Given the description of an element on the screen output the (x, y) to click on. 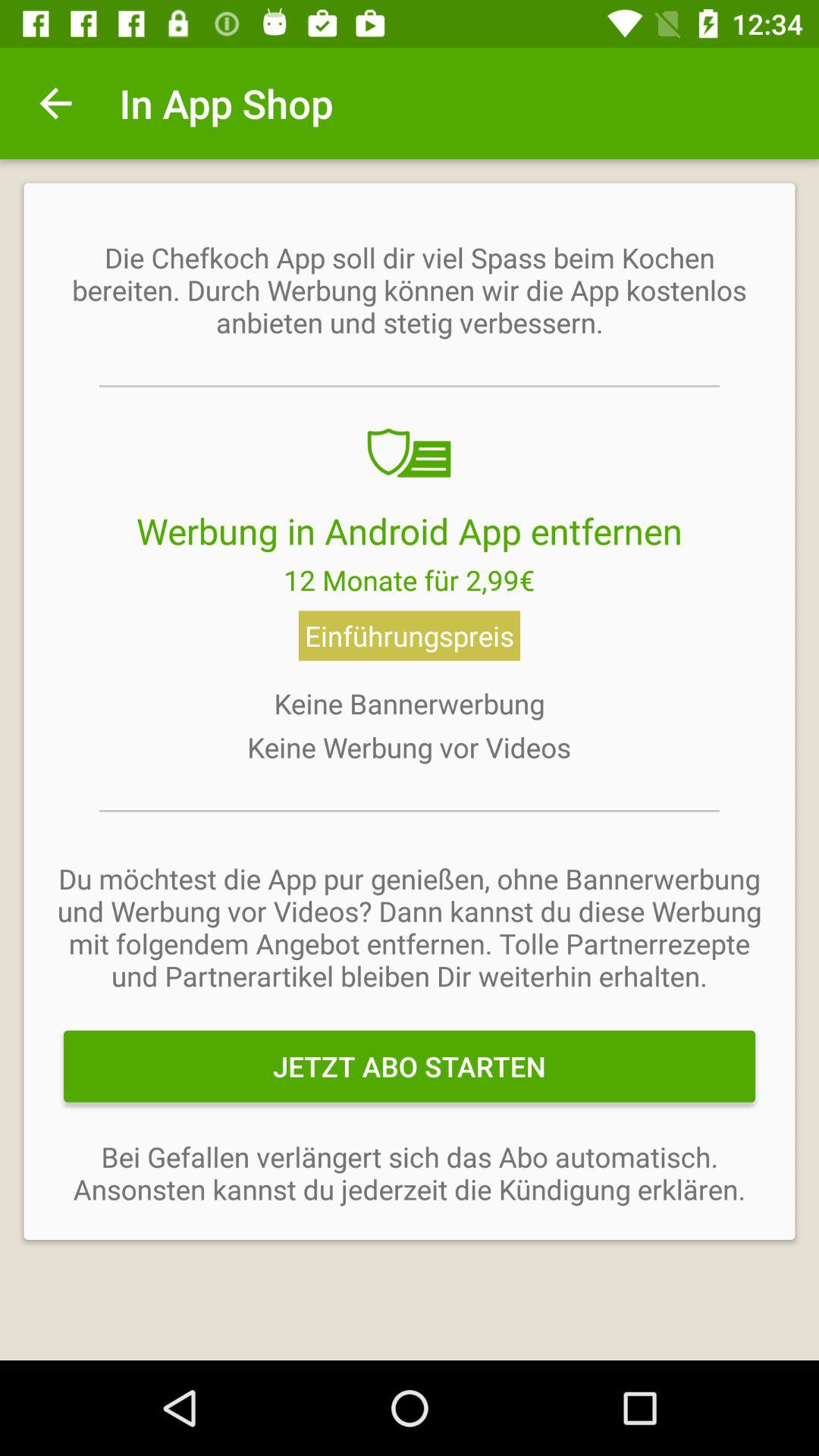
open the item above the die chefkoch app item (55, 103)
